Given the description of an element on the screen output the (x, y) to click on. 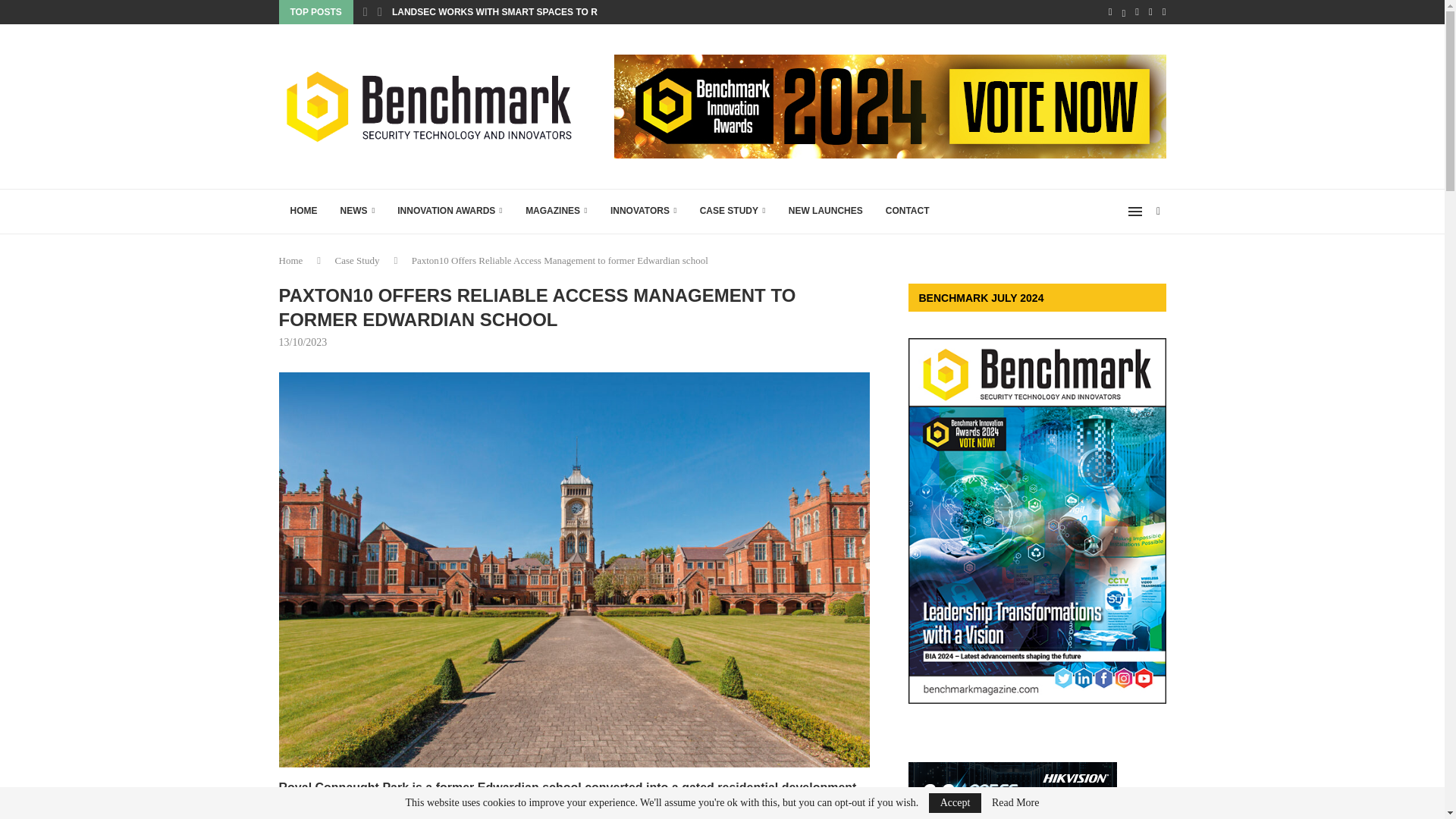
INNOVATION AWARDS (449, 211)
CASE STUDY (732, 211)
INNOVATORS (643, 211)
Case Study (357, 260)
CONTACT (907, 211)
NEWS (358, 211)
MAGAZINES (555, 211)
LANDSEC WORKS WITH SMART SPACES TO ROLL OUT... (517, 12)
HOME (304, 211)
Home (290, 260)
NEW LAUNCHES (826, 211)
